Given the description of an element on the screen output the (x, y) to click on. 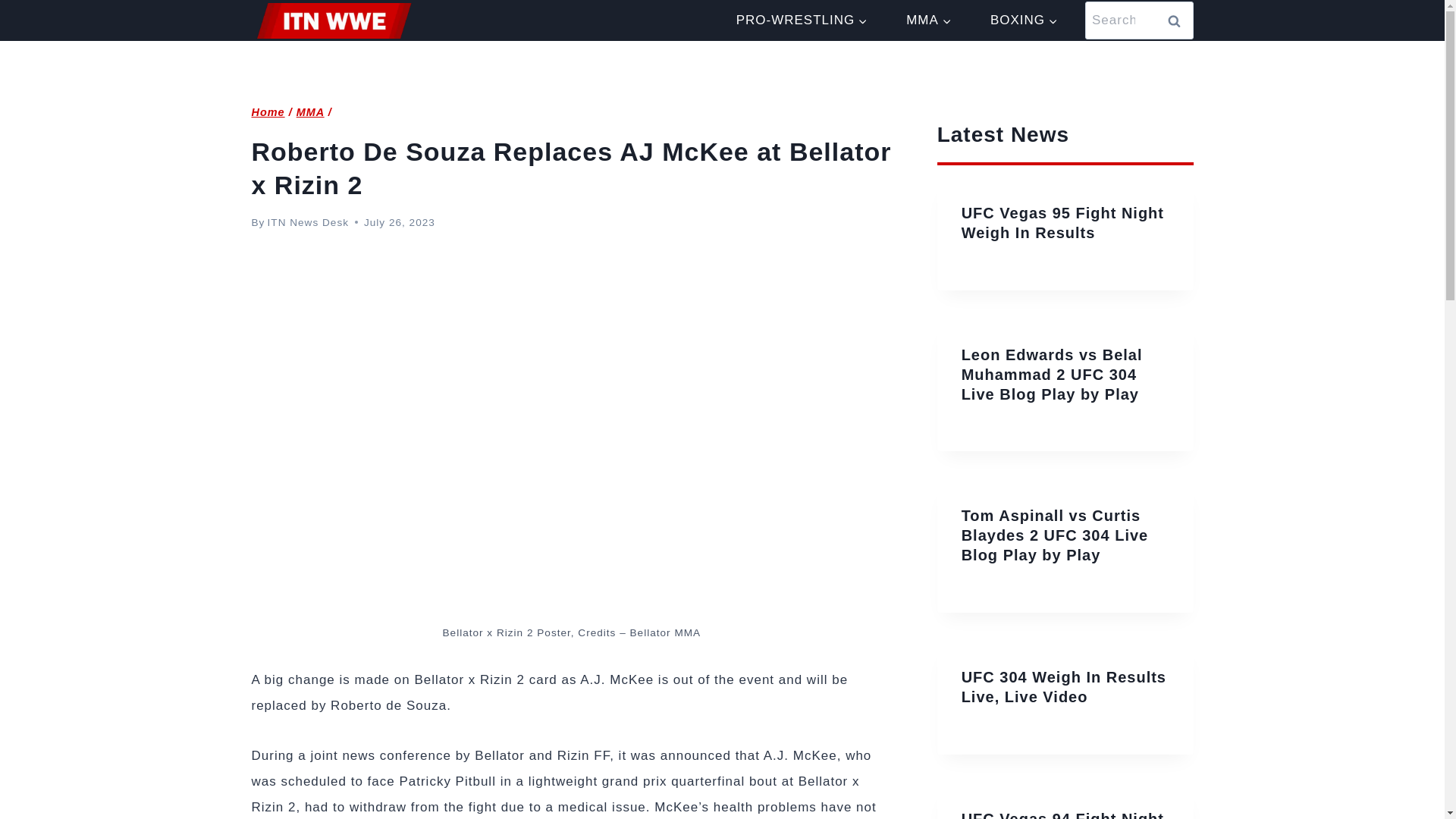
PRO-WRESTLING (801, 20)
Search (1174, 20)
Search (1174, 20)
